Given the description of an element on the screen output the (x, y) to click on. 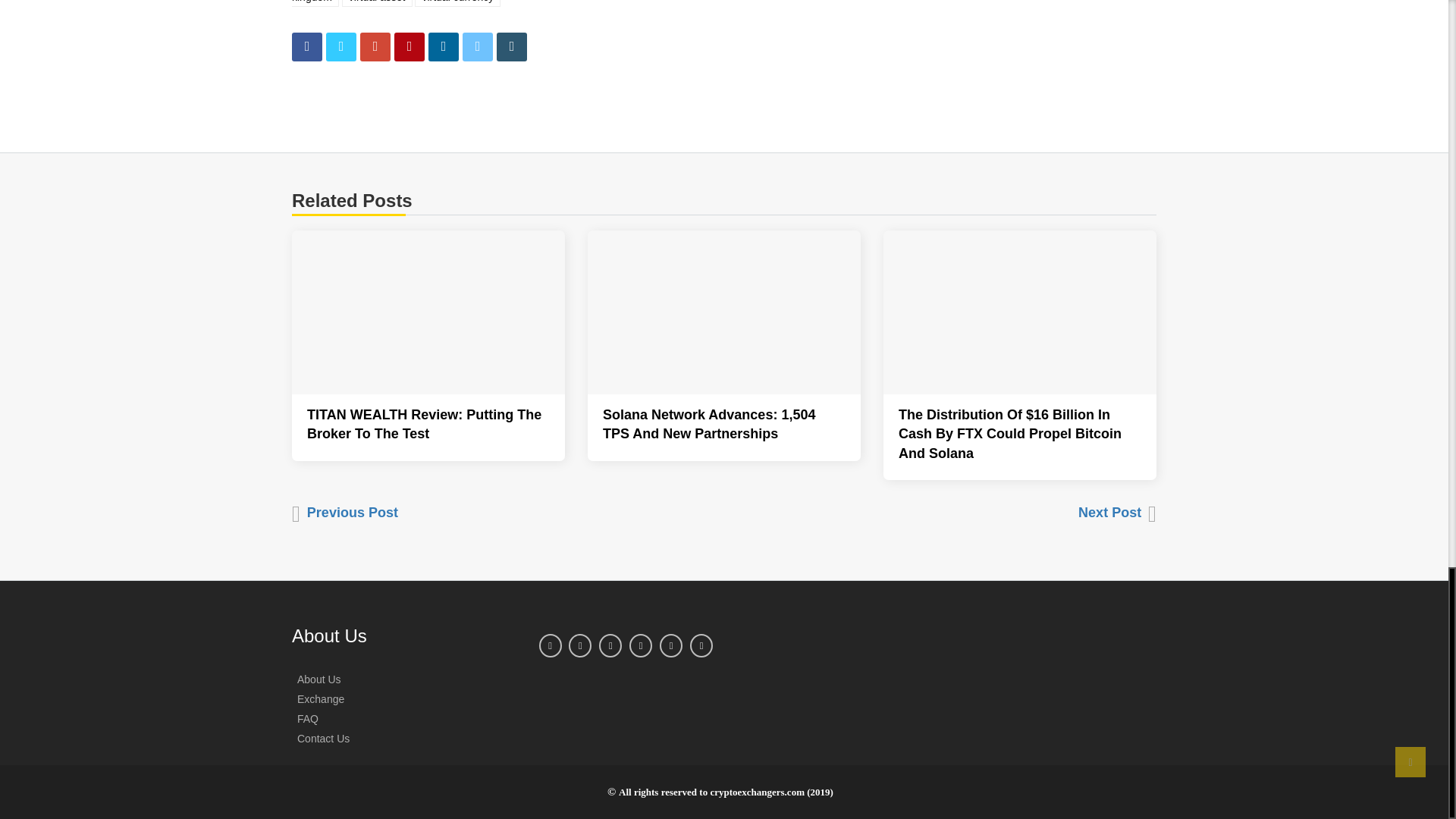
virtual currency (457, 3)
united kingdom (563, 3)
virtual asset (377, 3)
